Given the description of an element on the screen output the (x, y) to click on. 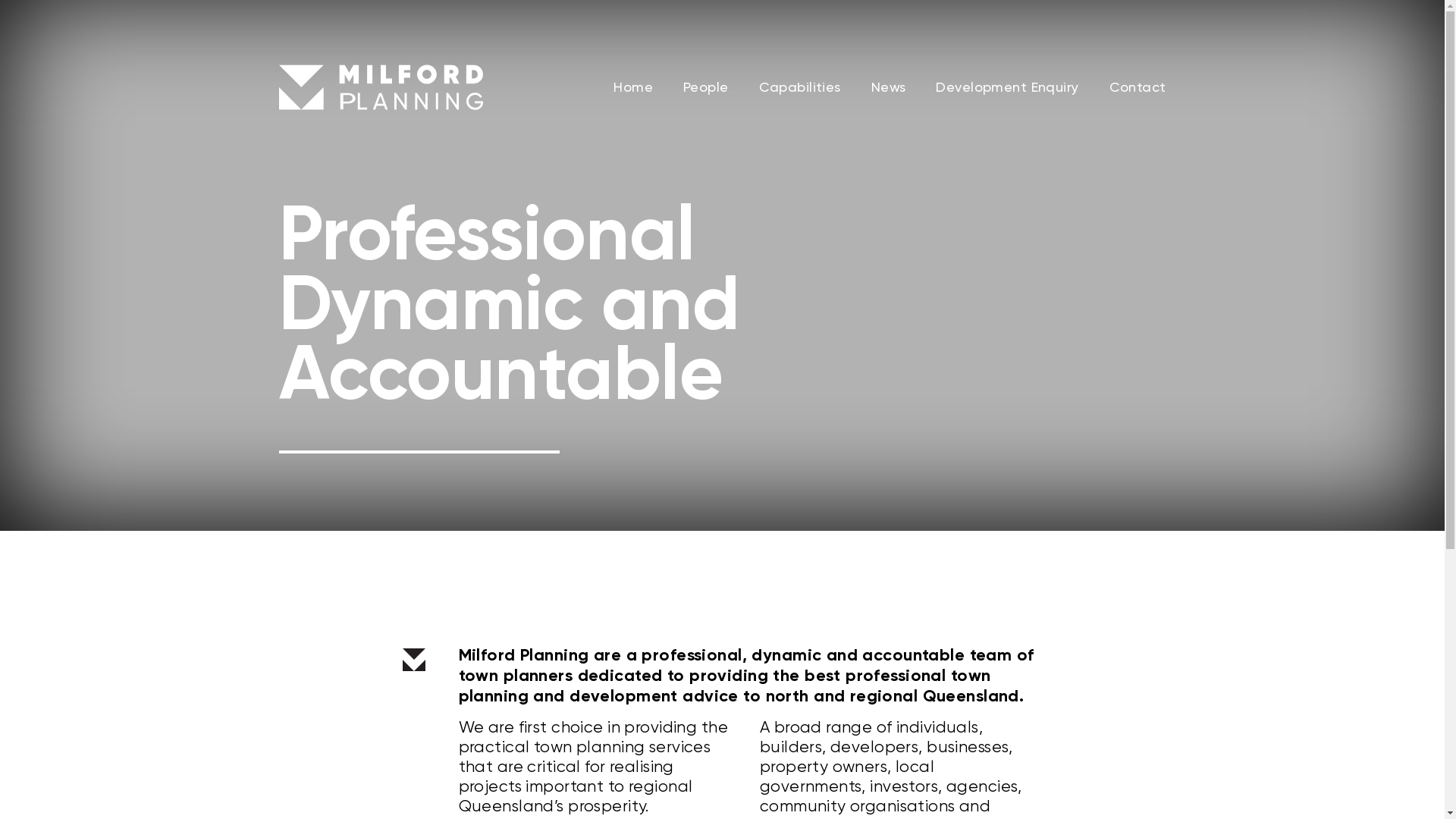
MilfordP_Milford-Logo Element type: text (381, 88)
People Element type: text (705, 87)
Capabilities Element type: text (799, 87)
Home Element type: text (633, 87)
News Element type: text (888, 87)
Development Enquiry Element type: text (1006, 87)
Contact Element type: text (1136, 87)
